Given the description of an element on the screen output the (x, y) to click on. 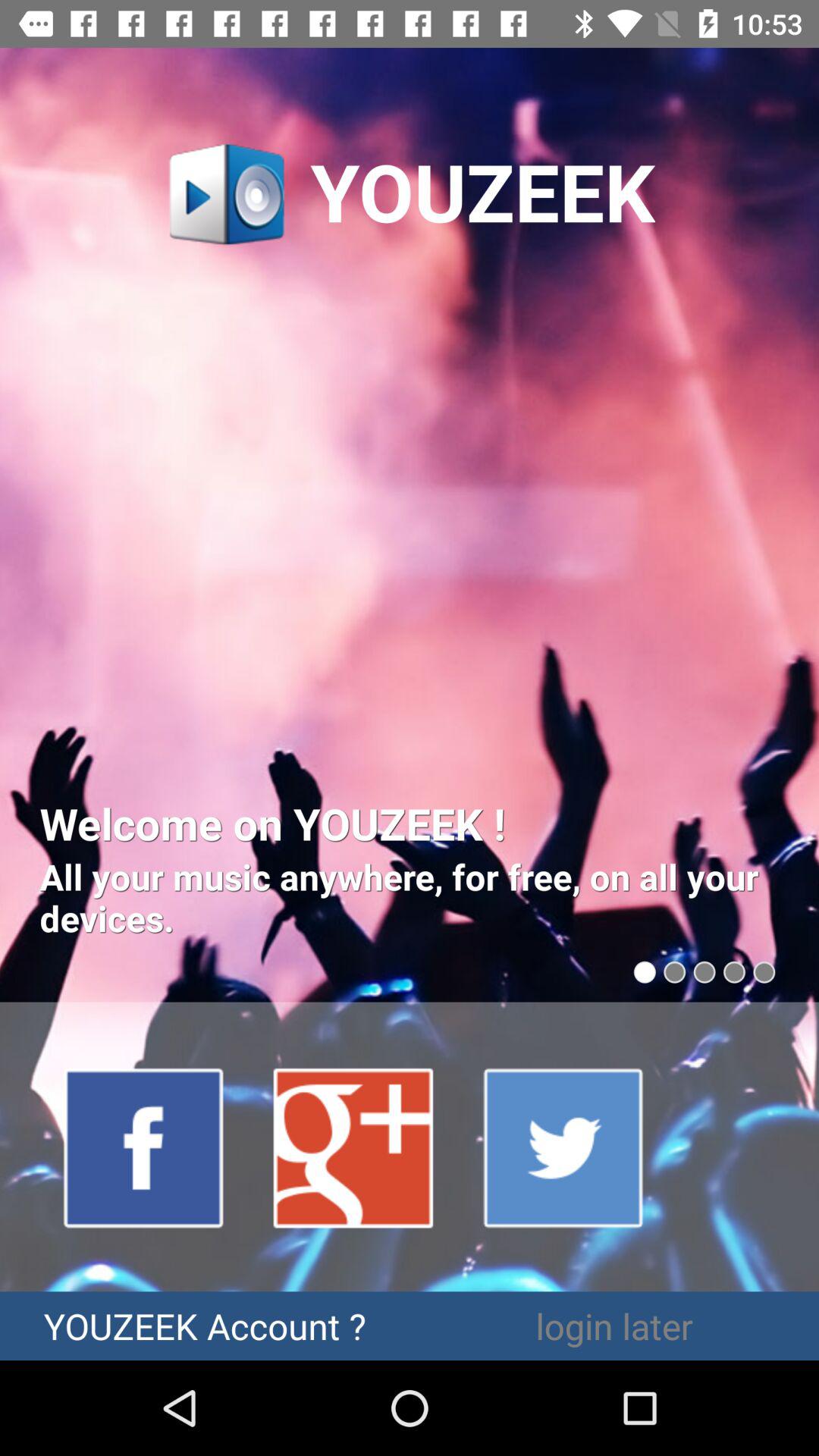
switch facebook (144, 1146)
